Given the description of an element on the screen output the (x, y) to click on. 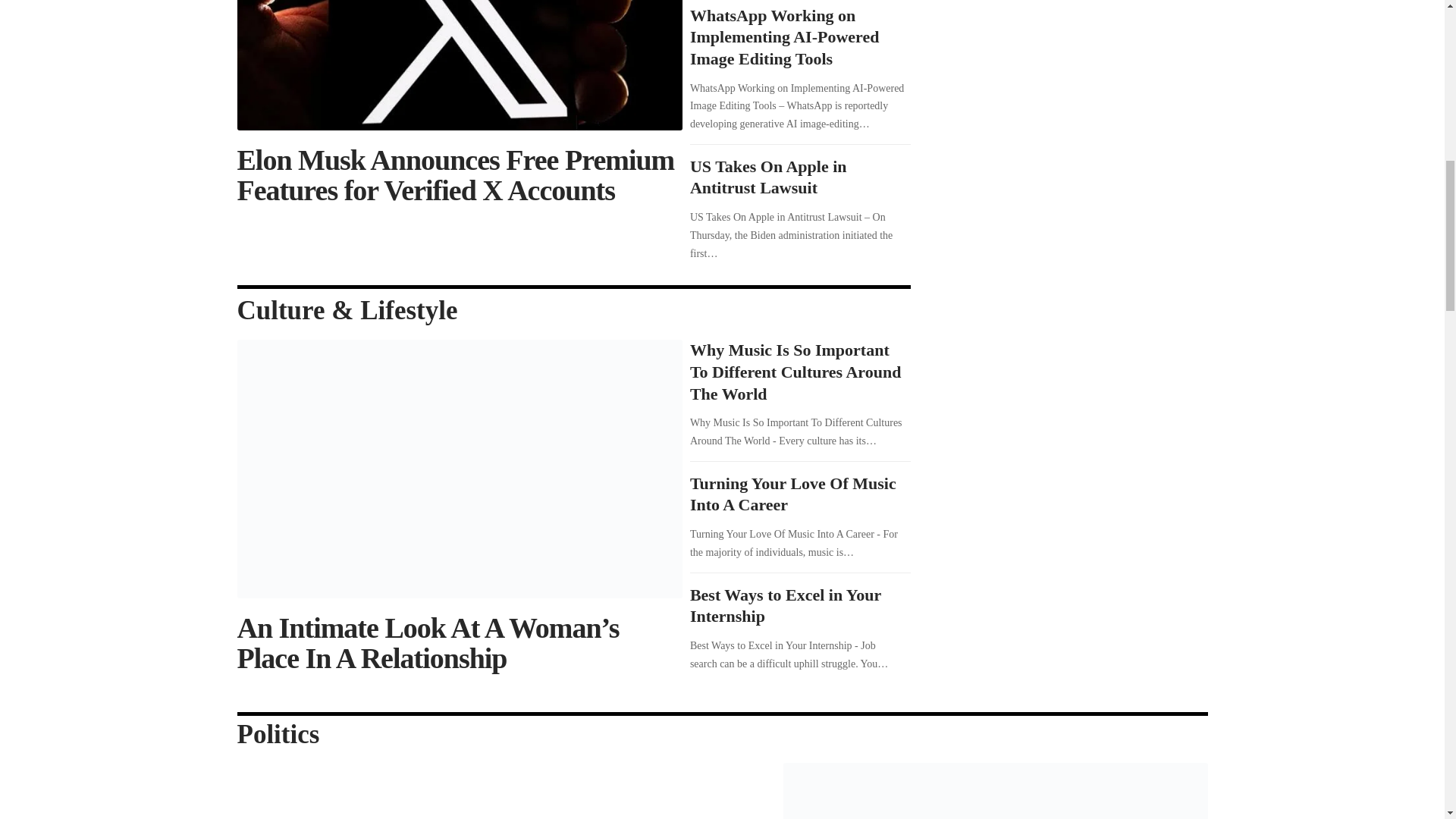
Putin Admits China Has Concerns Over Ukraine (995, 790)
